Given the description of an element on the screen output the (x, y) to click on. 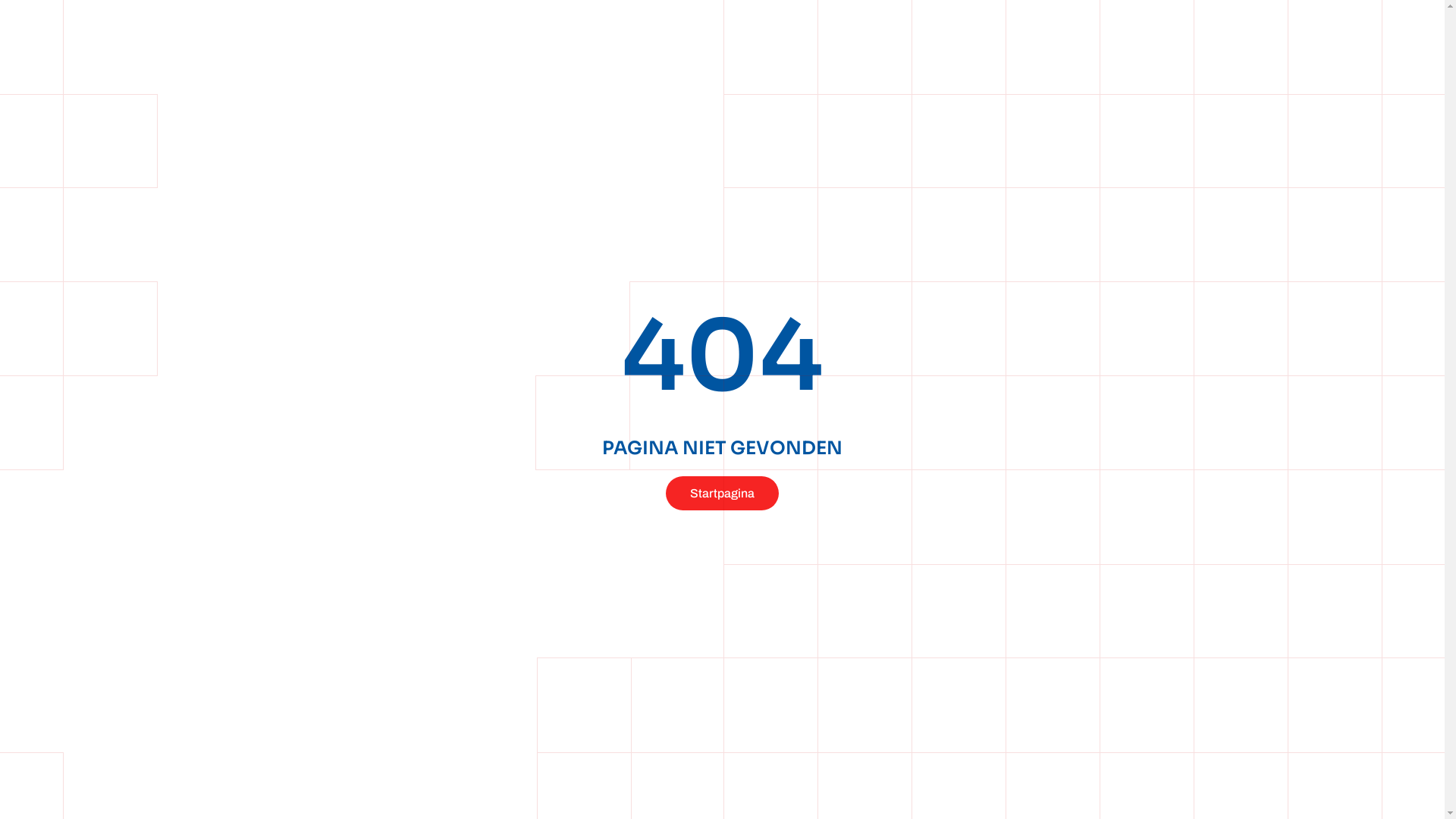
Startpagina Element type: text (721, 493)
